Given the description of an element on the screen output the (x, y) to click on. 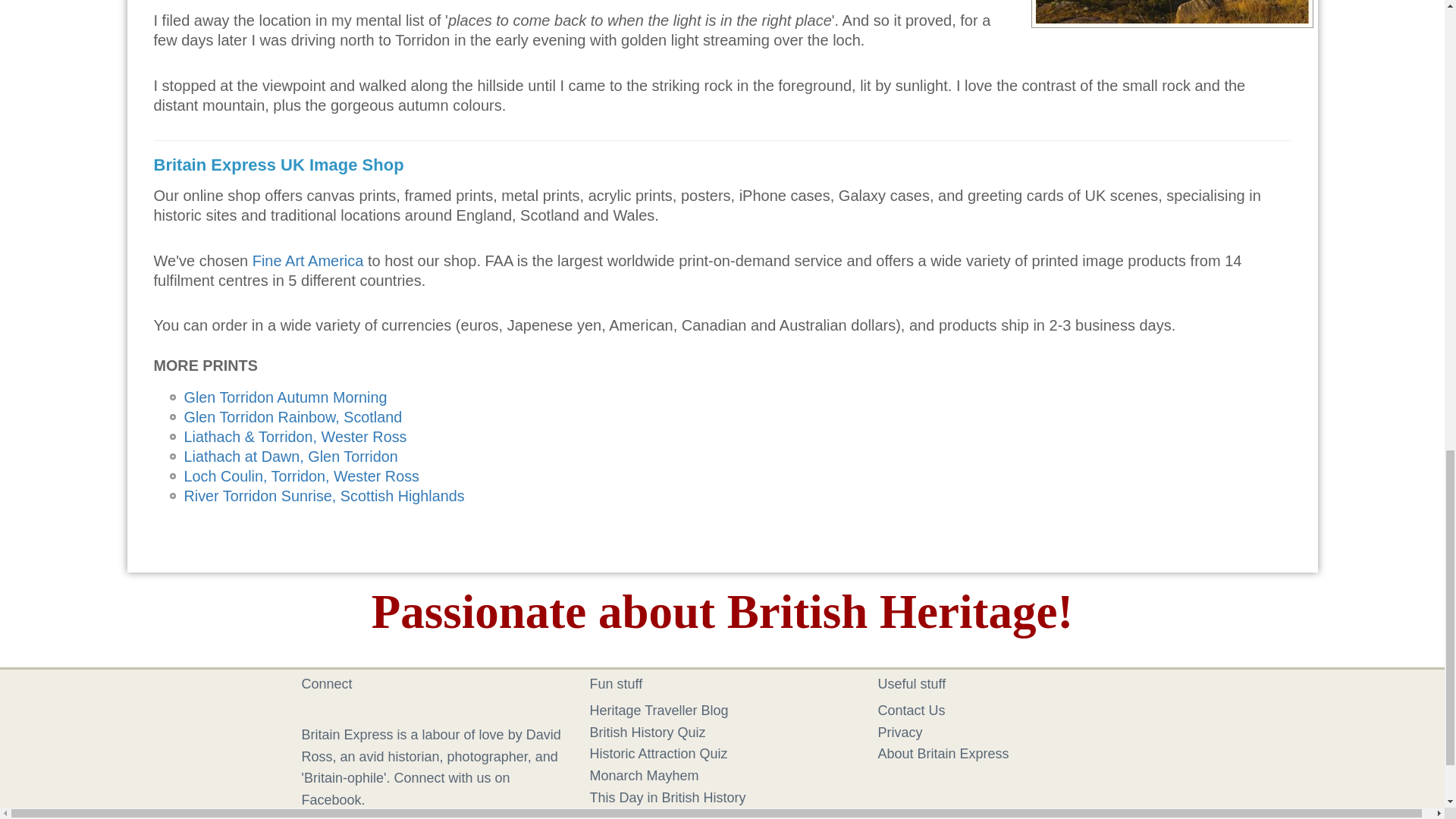
David Ross Prints on Fine Art America (307, 260)
Britain Express on Facebook (313, 711)
